Given the description of an element on the screen output the (x, y) to click on. 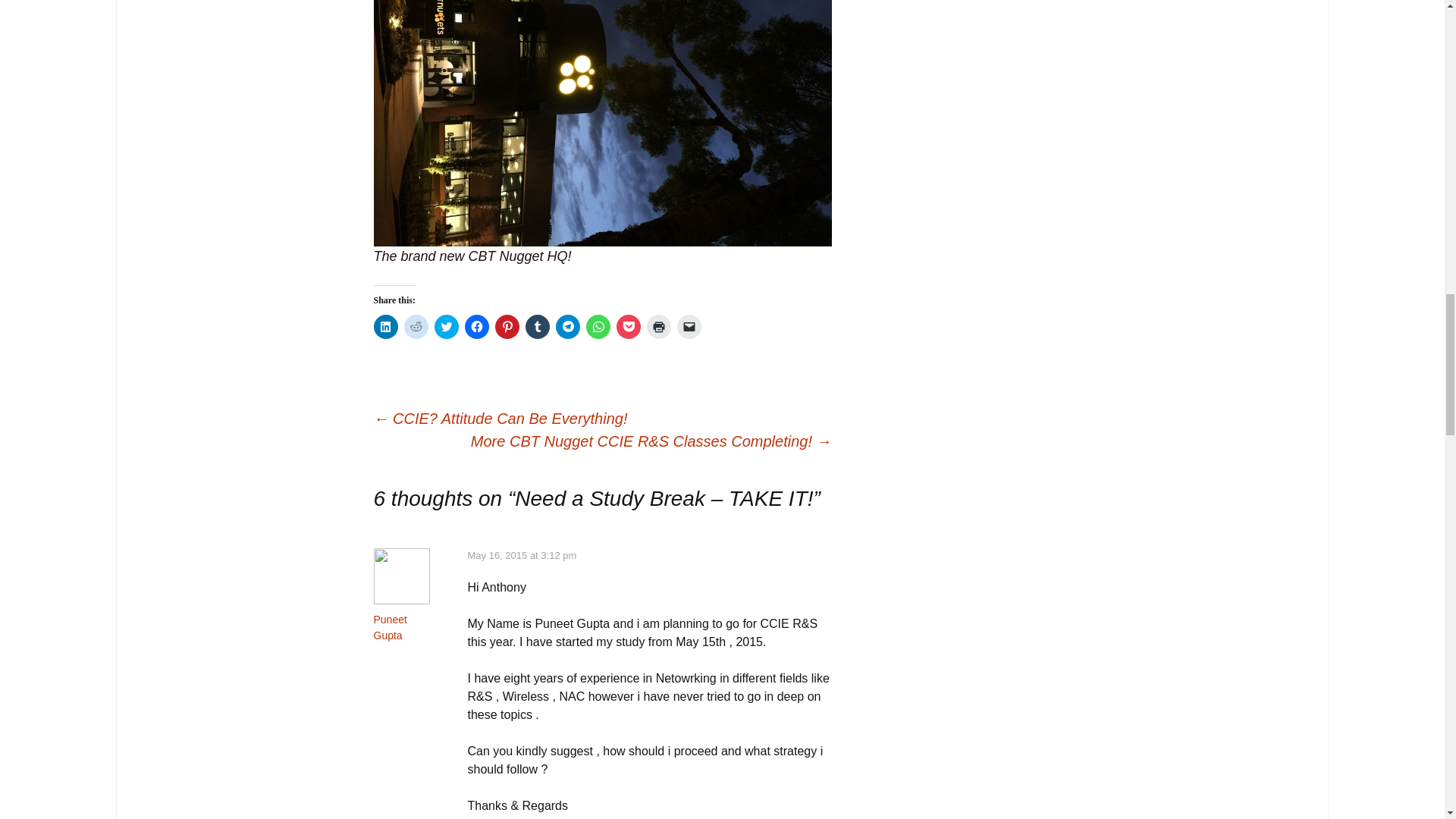
Click to share on Tumblr (536, 326)
Click to print (657, 326)
Click to share on Pocket (627, 326)
Click to share on Facebook (475, 326)
Click to share on LinkedIn (384, 326)
Click to share on WhatsApp (597, 326)
Click to share on Telegram (566, 326)
Click to share on Pinterest (506, 326)
Click to share on Twitter (445, 326)
Click to share on Reddit (415, 326)
